Given the description of an element on the screen output the (x, y) to click on. 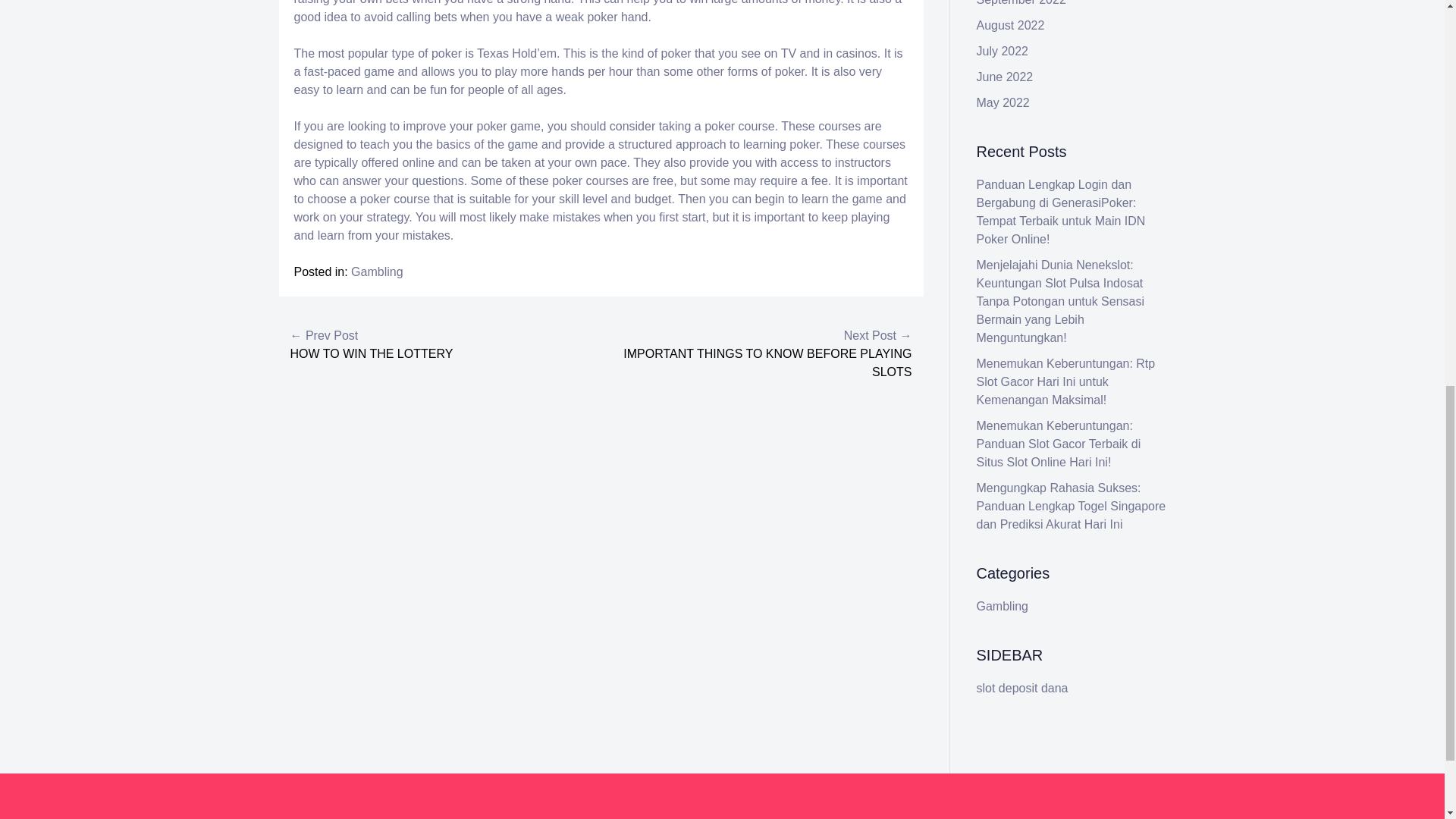
May 2022 (1002, 102)
August 2022 (1010, 24)
September 2022 (1020, 2)
Gambling (376, 271)
June 2022 (1004, 76)
July 2022 (1002, 51)
